Given the description of an element on the screen output the (x, y) to click on. 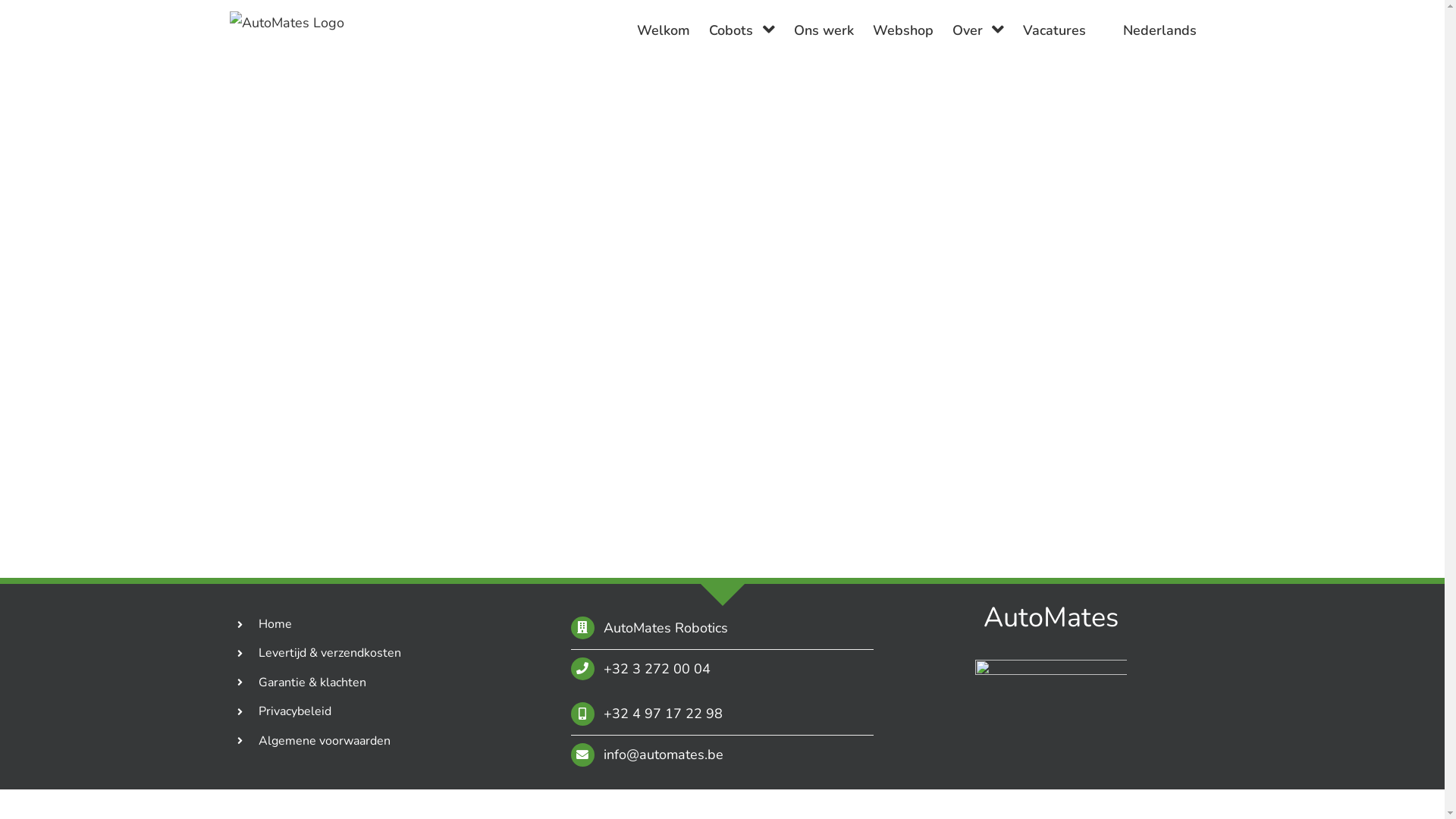
Home Element type: text (274, 623)
Levertijd & verzendkosten Element type: text (329, 652)
Vimeo video player 1 Element type: hover (721, 348)
OnRobotLogo1 Element type: hover (1050, 689)
Cobots Element type: text (742, 29)
Welkom Element type: text (663, 29)
Ons werk Element type: text (823, 29)
Privacybeleid Element type: text (294, 710)
Algemene voorwaarden Element type: text (324, 740)
Garantie & klachten Element type: text (312, 682)
Vacatures Element type: text (1053, 29)
Nederlands Element type: text (1149, 29)
+32 3 272 00 04 Element type: text (656, 668)
+32 4 97 17 22 98 Element type: text (662, 713)
Over Element type: text (978, 29)
Webshop Element type: text (902, 29)
